Given the description of an element on the screen output the (x, y) to click on. 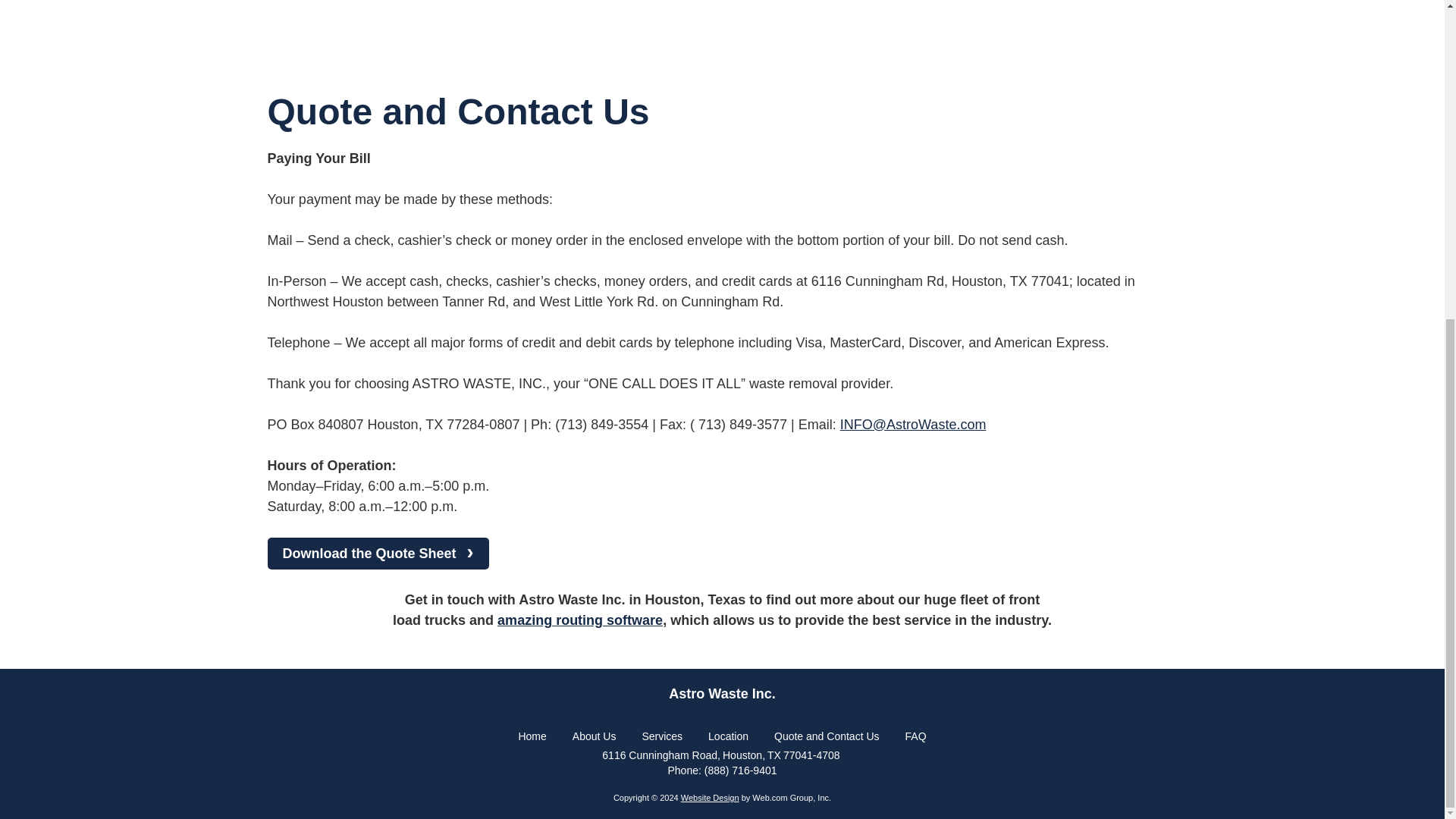
Download the Quote Sheet (376, 553)
FAQ (915, 735)
About Us (593, 735)
Quote and Contact Us (826, 735)
amazing routing software (579, 620)
Website Design (710, 797)
Location (727, 735)
Services (662, 735)
Home (532, 735)
